Given the description of an element on the screen output the (x, y) to click on. 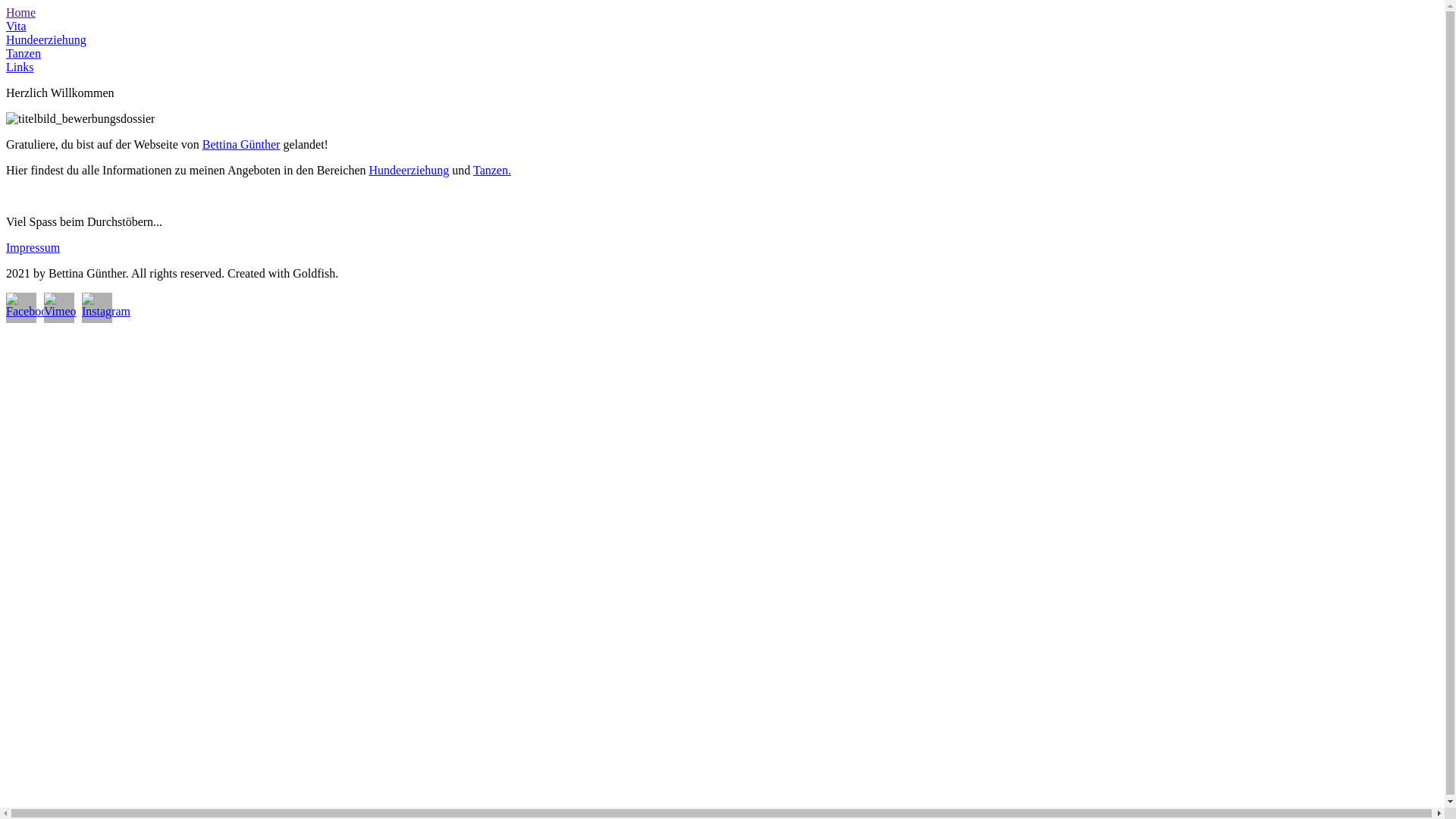
Vita Element type: text (16, 25)
Impressum Element type: text (32, 247)
Vimeo Element type: hover (58, 307)
Tanzen Element type: text (23, 53)
Instagram Element type: hover (96, 307)
Tanzen. Element type: text (492, 169)
Home Element type: text (20, 12)
Hundeerziehung Element type: text (46, 39)
Links Element type: text (19, 66)
Hundeerziehung Element type: text (409, 169)
Facebook Element type: hover (21, 307)
